Given the description of an element on the screen output the (x, y) to click on. 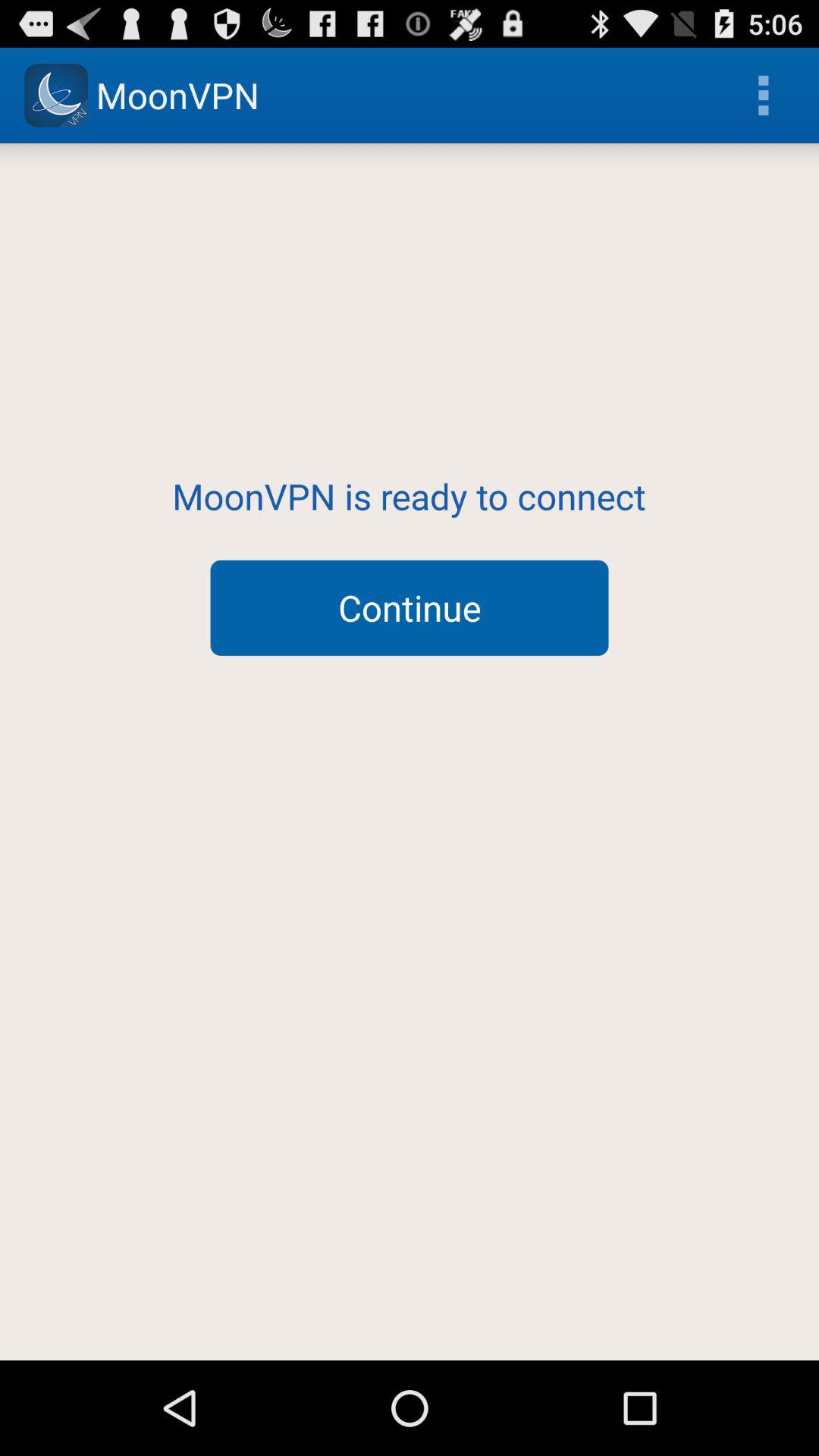
click continue icon (409, 607)
